Given the description of an element on the screen output the (x, y) to click on. 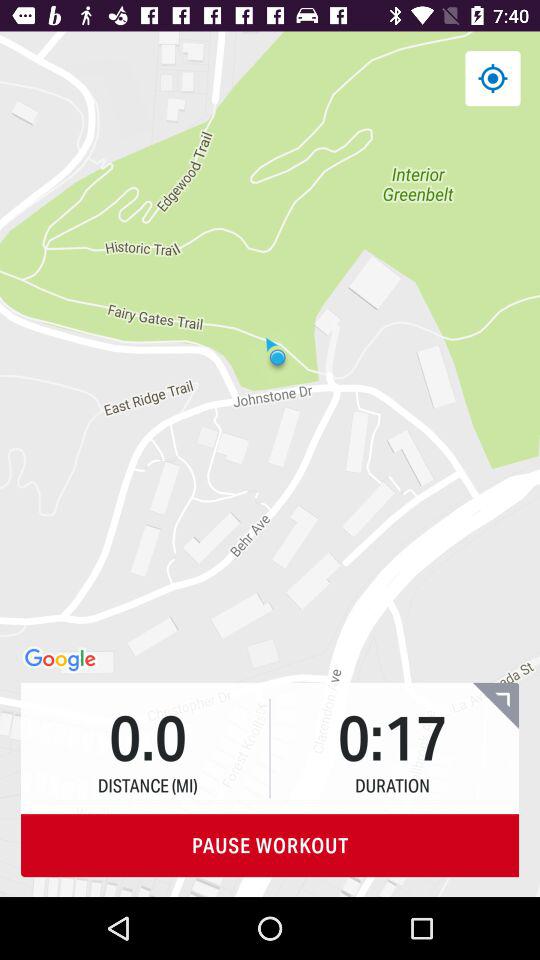
find current location (492, 78)
